Given the description of an element on the screen output the (x, y) to click on. 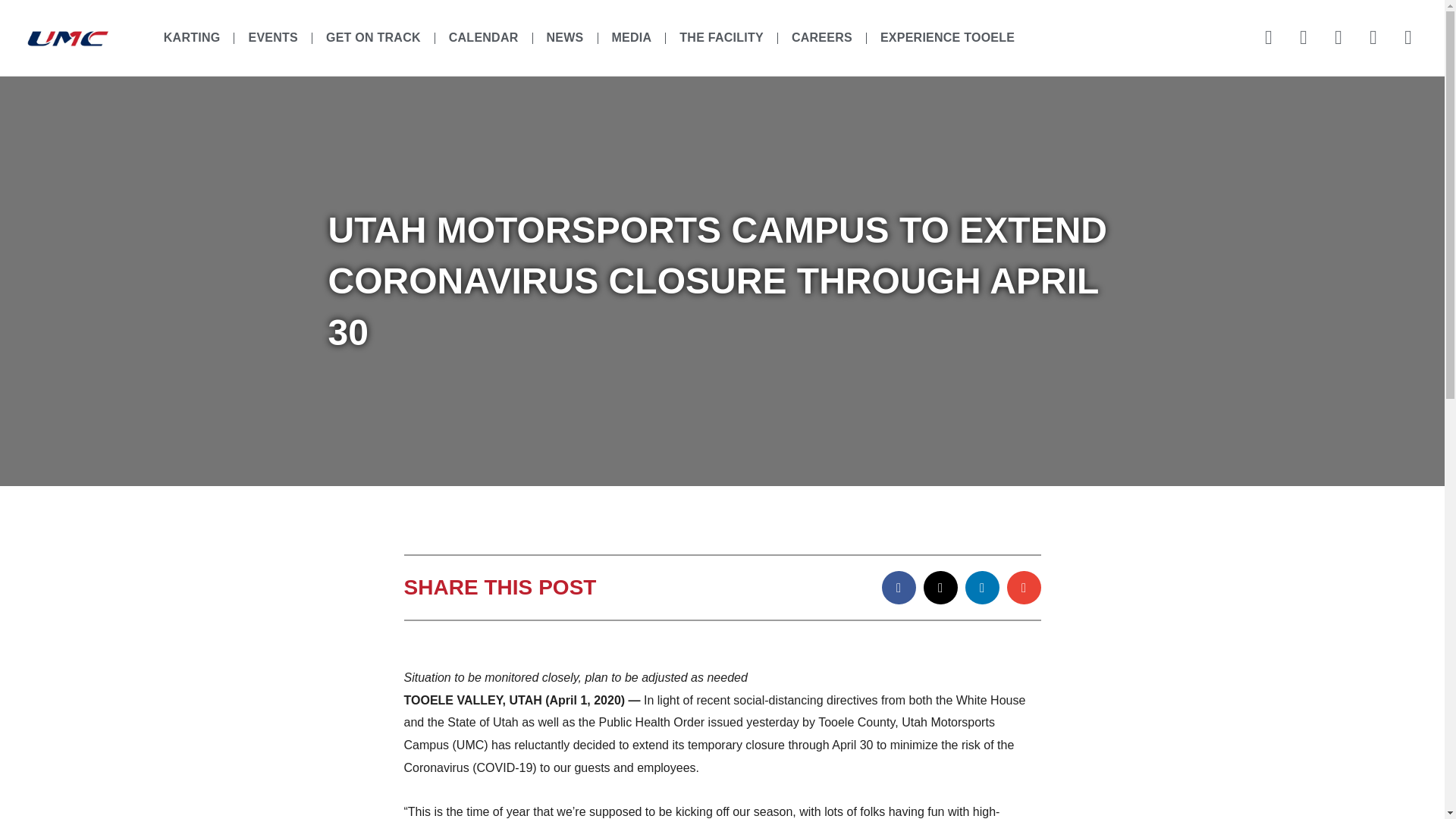
NEWS (564, 37)
CAREERS (821, 37)
EVENTS (272, 37)
CALENDAR (483, 37)
GET ON TRACK (373, 37)
EXPERIENCE TOOELE (946, 37)
KARTING (191, 37)
THE FACILITY (721, 37)
MEDIA (631, 37)
